Given the description of an element on the screen output the (x, y) to click on. 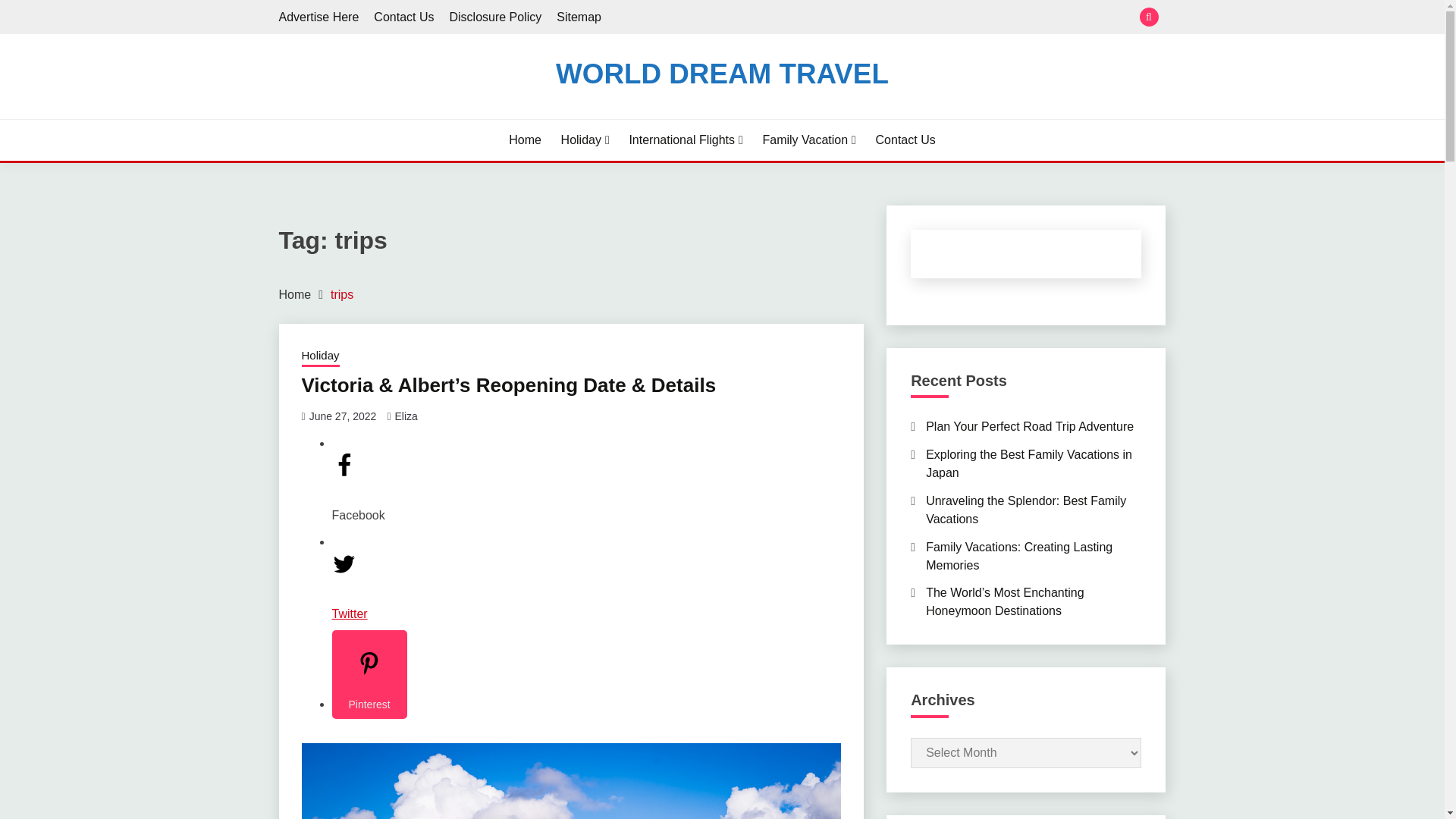
trips (341, 294)
Eliza (405, 416)
June 27, 2022 (342, 416)
Sitemap (578, 16)
Advertise Here (319, 16)
Home (295, 294)
WORLD DREAM TRAVEL (722, 73)
Contact Us (906, 140)
International Flights (685, 140)
Contact Us (403, 16)
Holiday (320, 356)
Disclosure Policy (494, 16)
Home (524, 140)
Search (832, 18)
Family Vacation (808, 140)
